Given the description of an element on the screen output the (x, y) to click on. 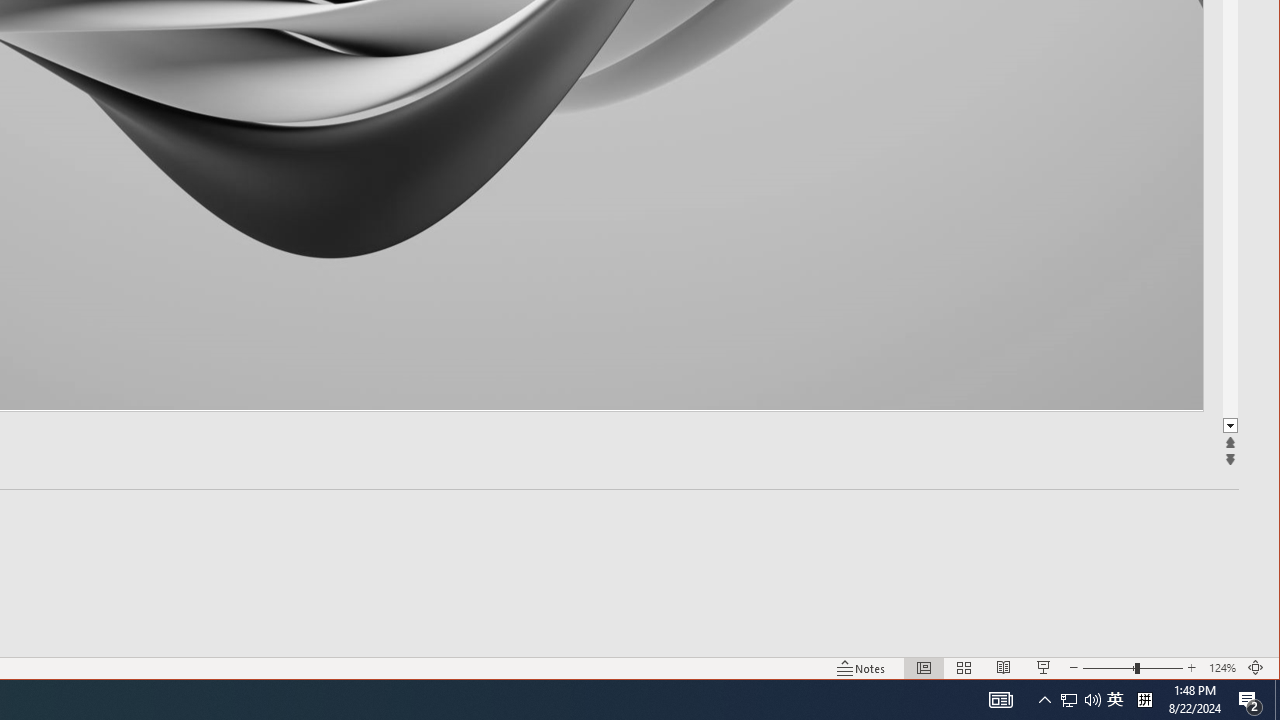
Action Center, 2 new notifications (1250, 699)
